Given the description of an element on the screen output the (x, y) to click on. 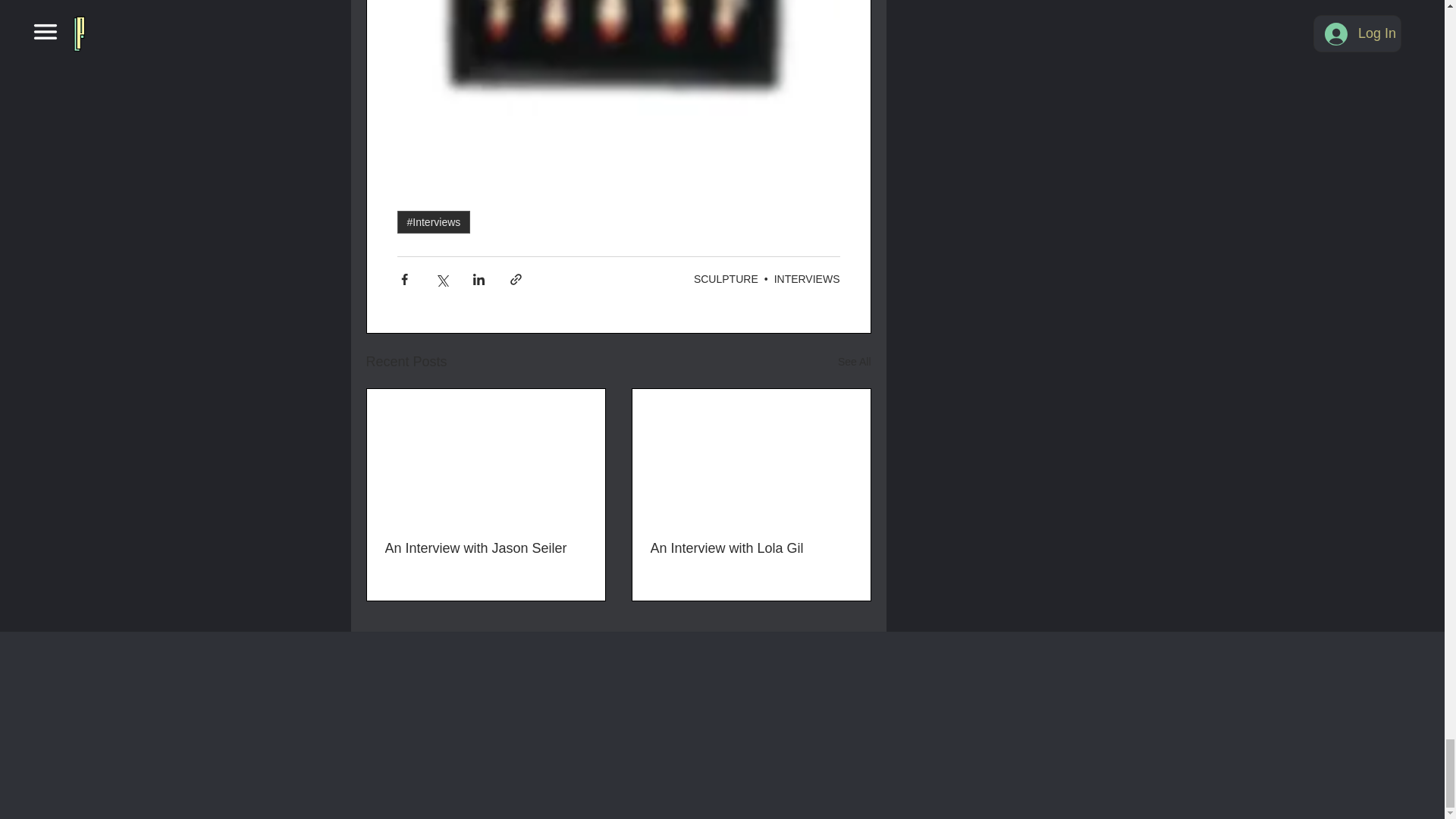
An Interview with Lola Gil (750, 548)
An Interview with Jason Seiler (485, 548)
SCULPTURE (726, 278)
See All (854, 362)
INTERVIEWS (807, 278)
